Given the description of an element on the screen output the (x, y) to click on. 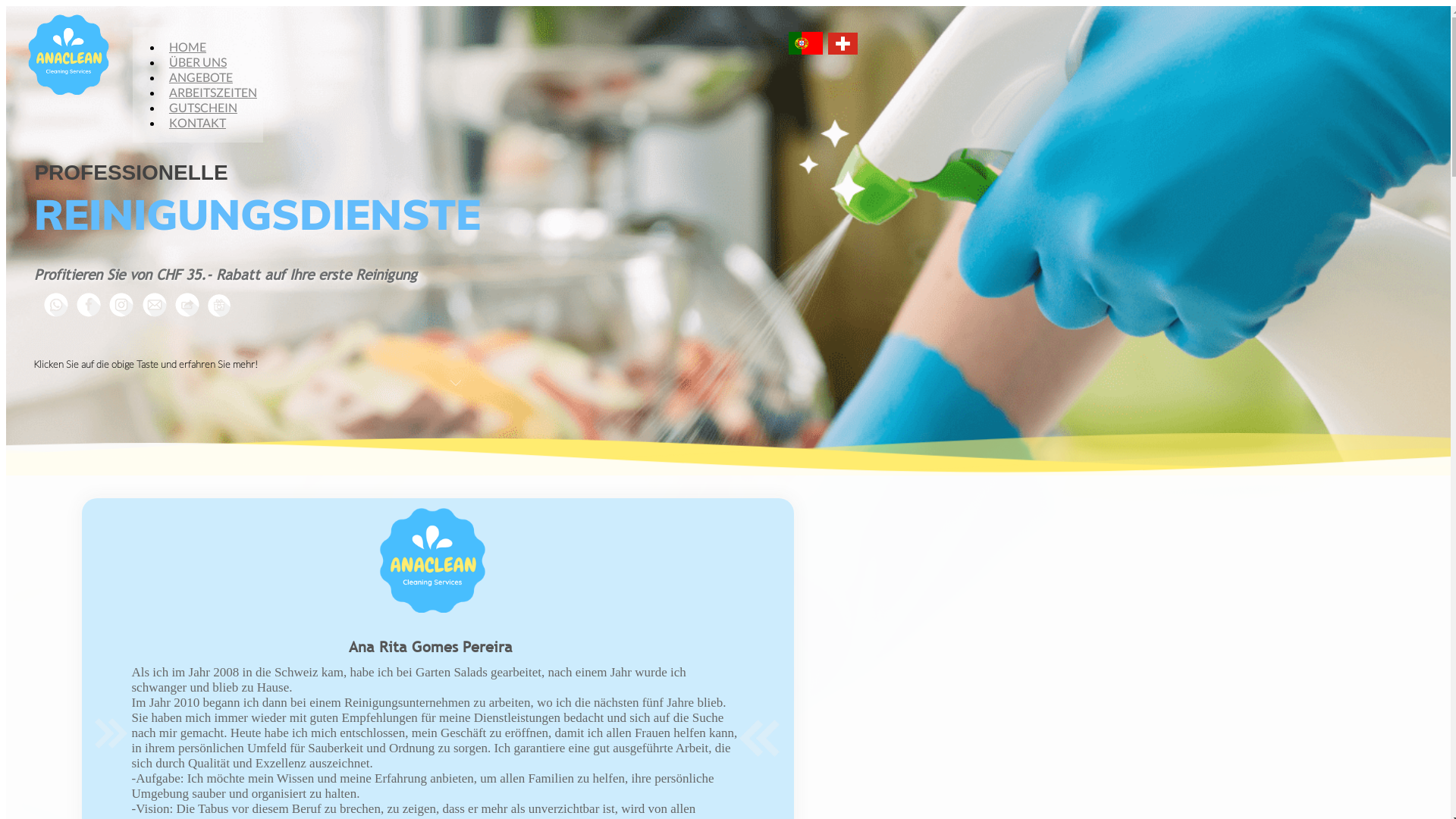
Gutschein Element type: hover (219, 305)
WhatsApp Element type: hover (56, 304)
Enviar mensagem Element type: hover (154, 304)
KONTAKT Element type: text (197, 122)
ANGEBOTE Element type: text (200, 76)
ARBEITSZEITEN Element type: text (213, 91)
HOME Element type: text (187, 46)
Compartilhar Element type: hover (187, 304)
GUTSCHEIN Element type: text (203, 107)
